Given the description of an element on the screen output the (x, y) to click on. 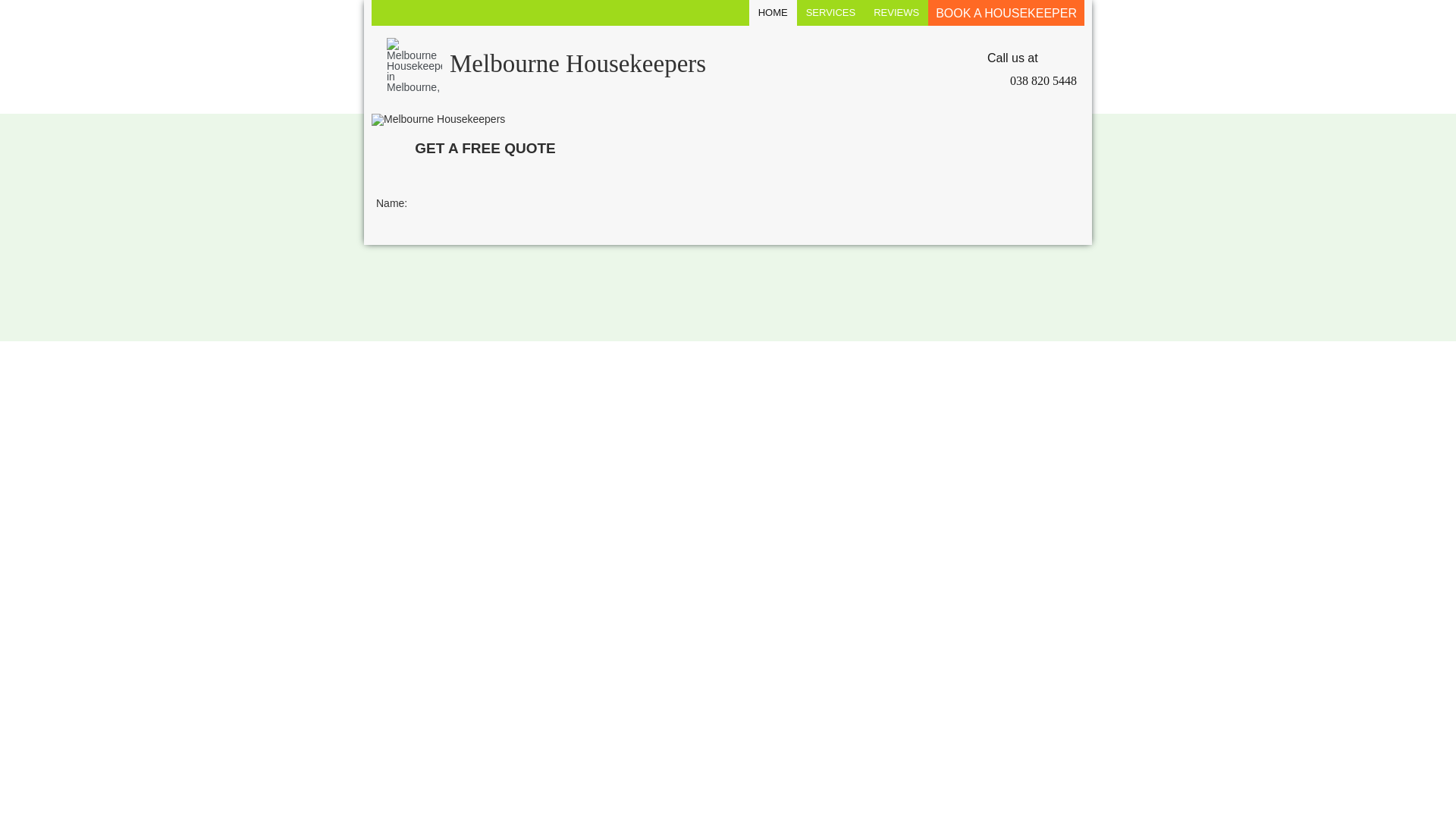
Melbourne Housekeepers Element type: hover (414, 65)
Professional Housekeepers Melbourne Element type: hover (438, 119)
SERVICES Element type: text (830, 12)
HOME Element type: text (772, 12)
Melbourne Housekeepers Element type: text (602, 65)
REVIEWS Element type: text (896, 12)
038 820 5448 Element type: text (1031, 80)
BOOK A HOUSEKEEPER Element type: text (1006, 12)
